Given the description of an element on the screen output the (x, y) to click on. 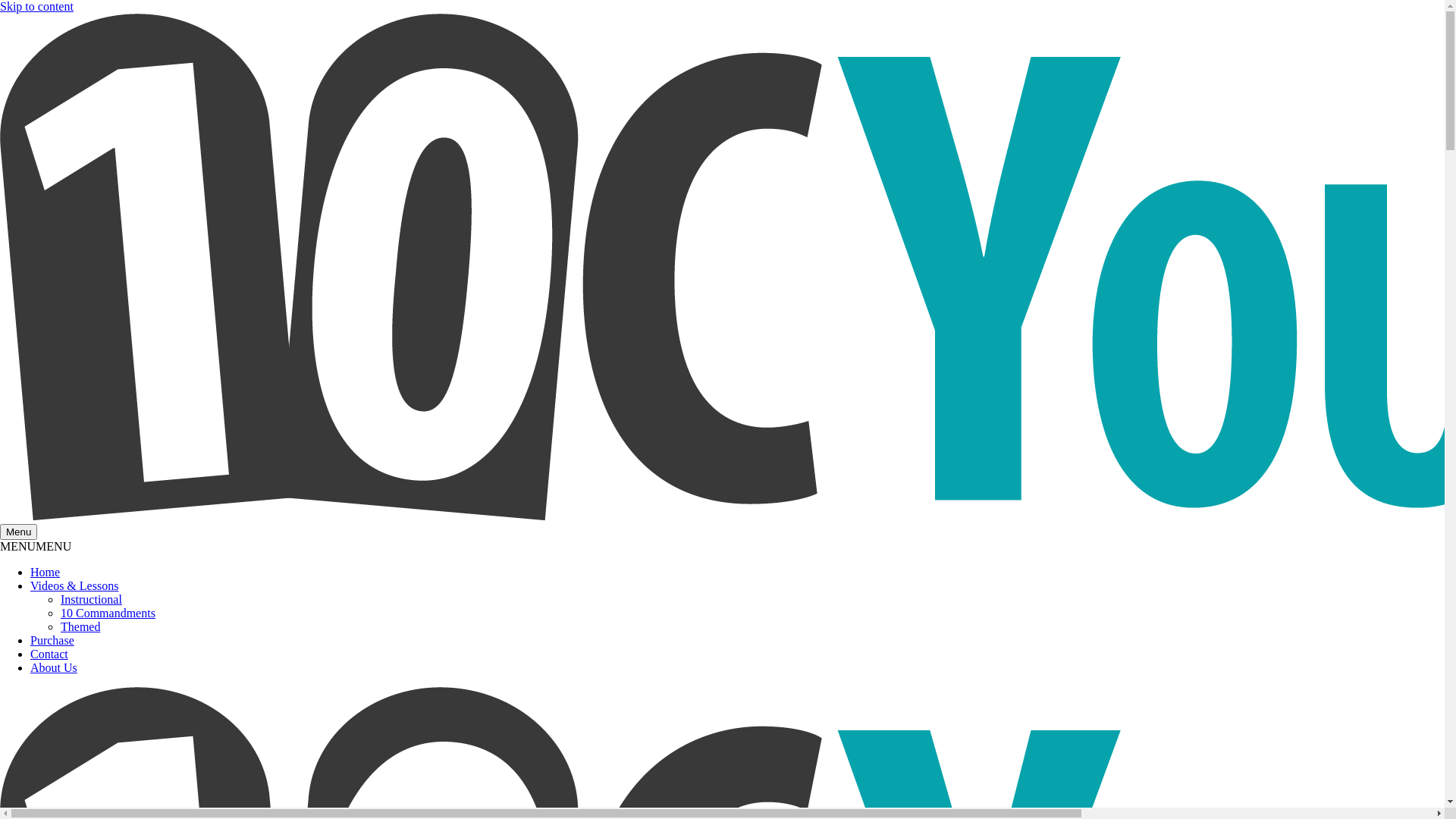
Home Element type: text (44, 571)
Videos & Lessons Element type: text (74, 585)
Menu Element type: text (18, 531)
Purchase Element type: text (52, 639)
Skip to content Element type: text (36, 6)
10 Commandments Element type: text (107, 612)
Themed Element type: text (80, 626)
About Us Element type: text (53, 667)
Instructional Element type: text (91, 599)
Contact Element type: text (49, 653)
